Given the description of an element on the screen output the (x, y) to click on. 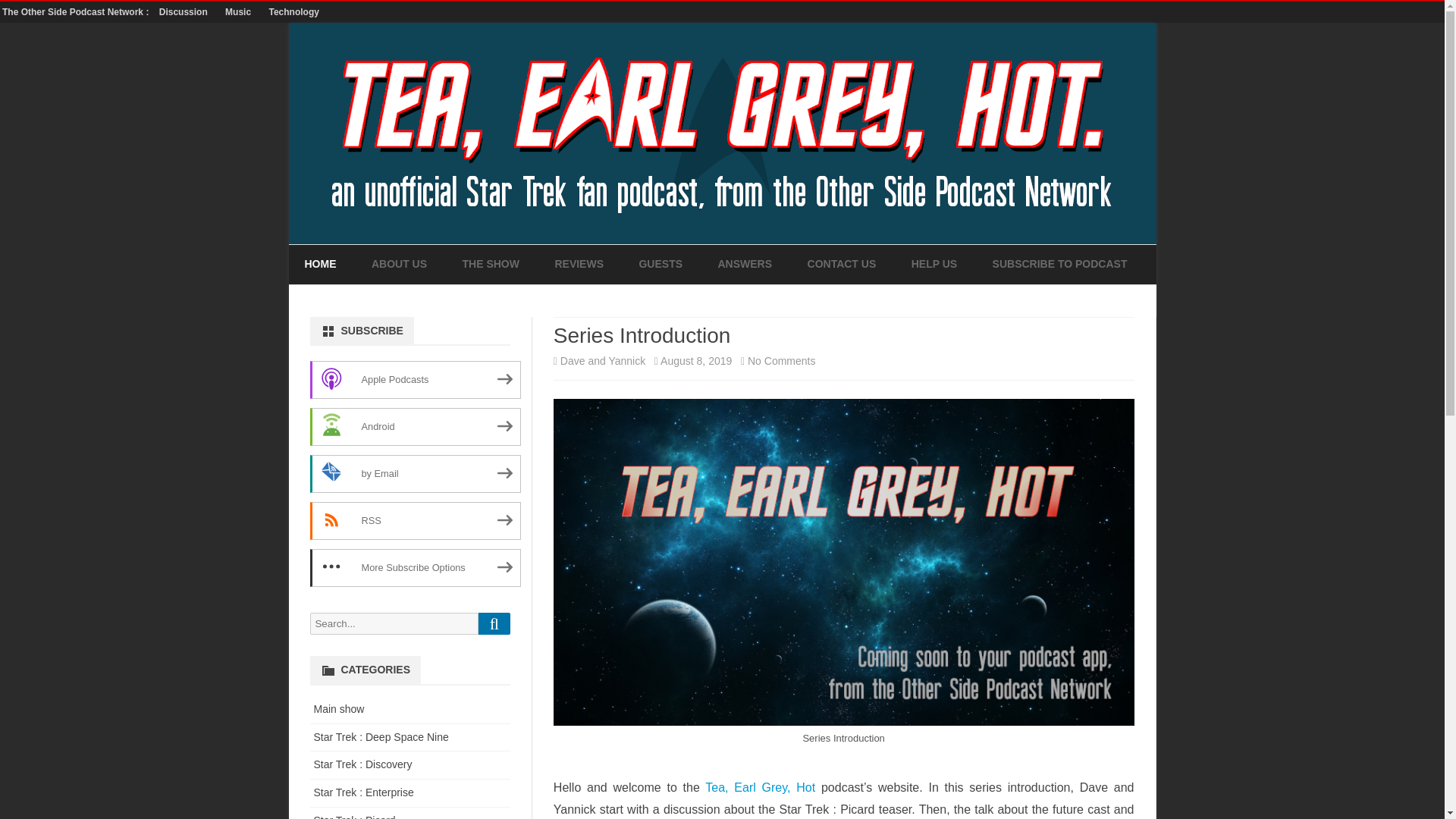
HELP US (933, 264)
CONTACT US (842, 264)
More Subscribe Options (413, 567)
REVIEWS (579, 264)
GUESTS (660, 264)
ABOUT US (398, 264)
ANSWERS (744, 264)
Subscribe via RSS (413, 520)
Series Introduction (641, 335)
The Other Side Podcast Network :  (76, 11)
